Given the description of an element on the screen output the (x, y) to click on. 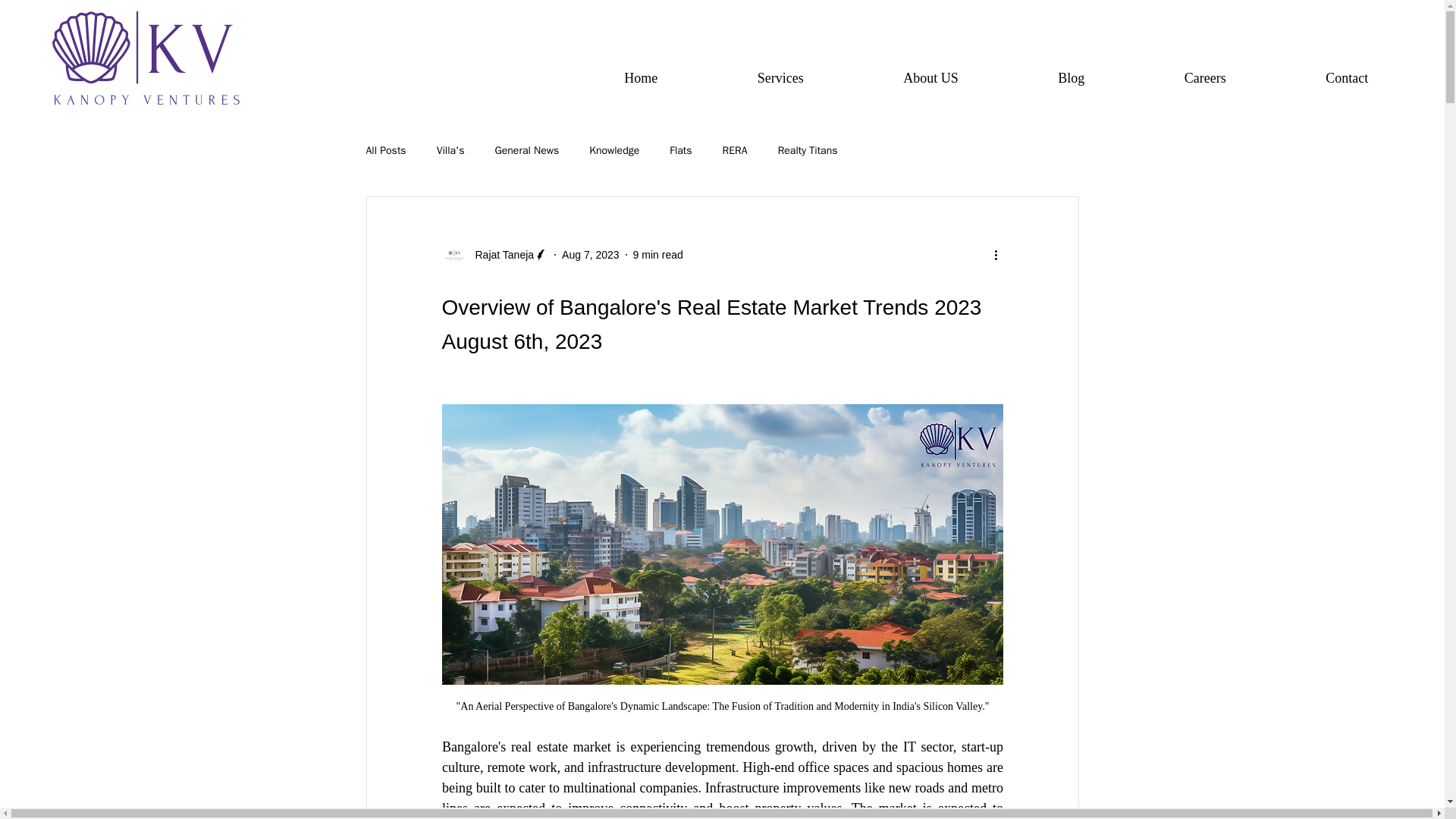
Contact (1345, 77)
All Posts (385, 151)
General News (527, 151)
9 min read (657, 254)
Services (780, 77)
Blog (1071, 77)
Knowledge (614, 151)
Careers (1204, 77)
Flats (680, 151)
RERA (735, 151)
Villa's (450, 151)
Aug 7, 2023 (591, 254)
Realty Titans (807, 151)
About US (931, 77)
Home (641, 77)
